Given the description of an element on the screen output the (x, y) to click on. 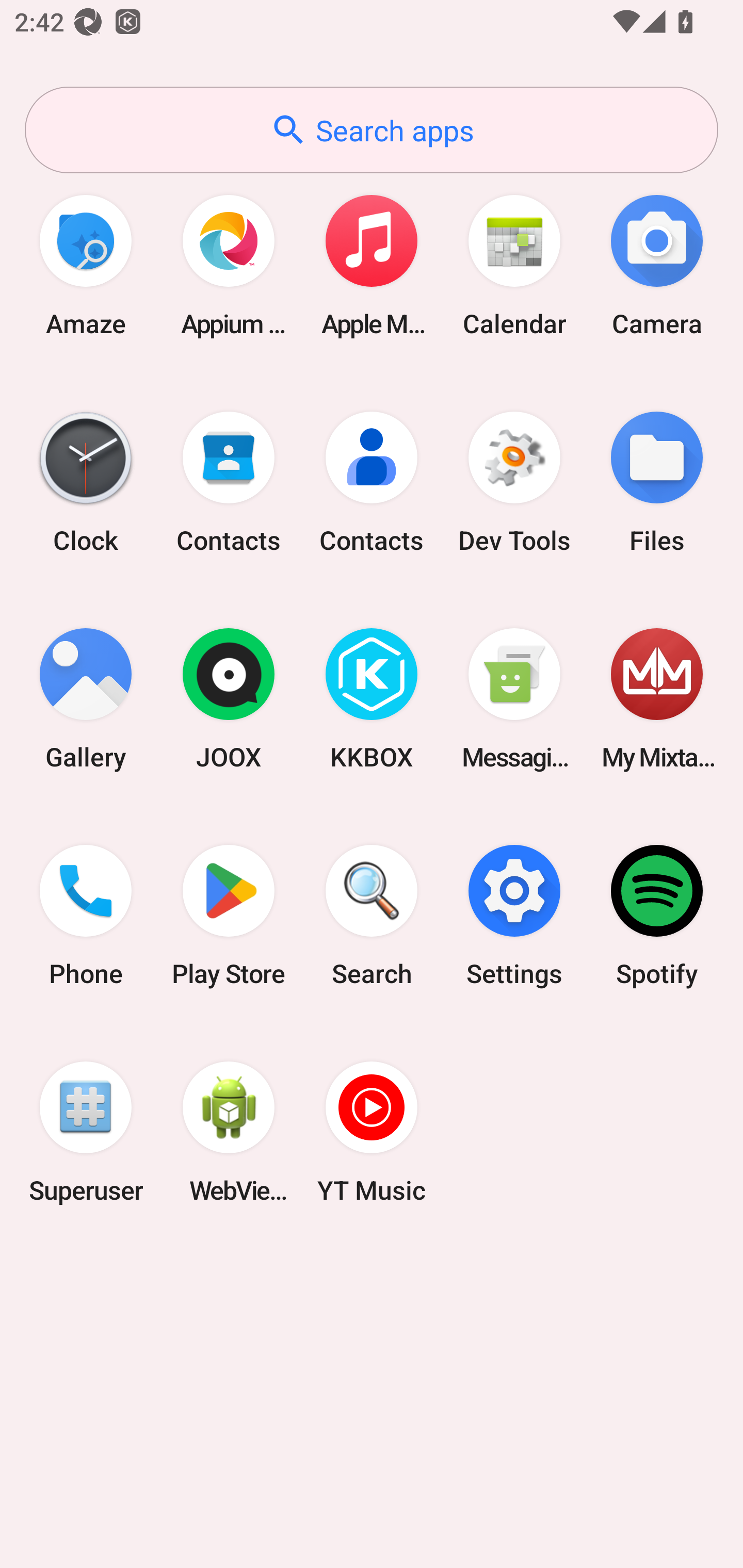
  Search apps (371, 130)
Amaze (85, 264)
Appium Settings (228, 264)
Apple Music (371, 264)
Calendar (514, 264)
Camera (656, 264)
Clock (85, 482)
Contacts (228, 482)
Contacts (371, 482)
Dev Tools (514, 482)
Files (656, 482)
Gallery (85, 699)
JOOX (228, 699)
KKBOX (371, 699)
Messaging (514, 699)
My Mixtapez (656, 699)
Phone (85, 915)
Play Store (228, 915)
Search (371, 915)
Settings (514, 915)
Spotify (656, 915)
Superuser (85, 1131)
WebView Browser Tester (228, 1131)
YT Music (371, 1131)
